Given the description of an element on the screen output the (x, y) to click on. 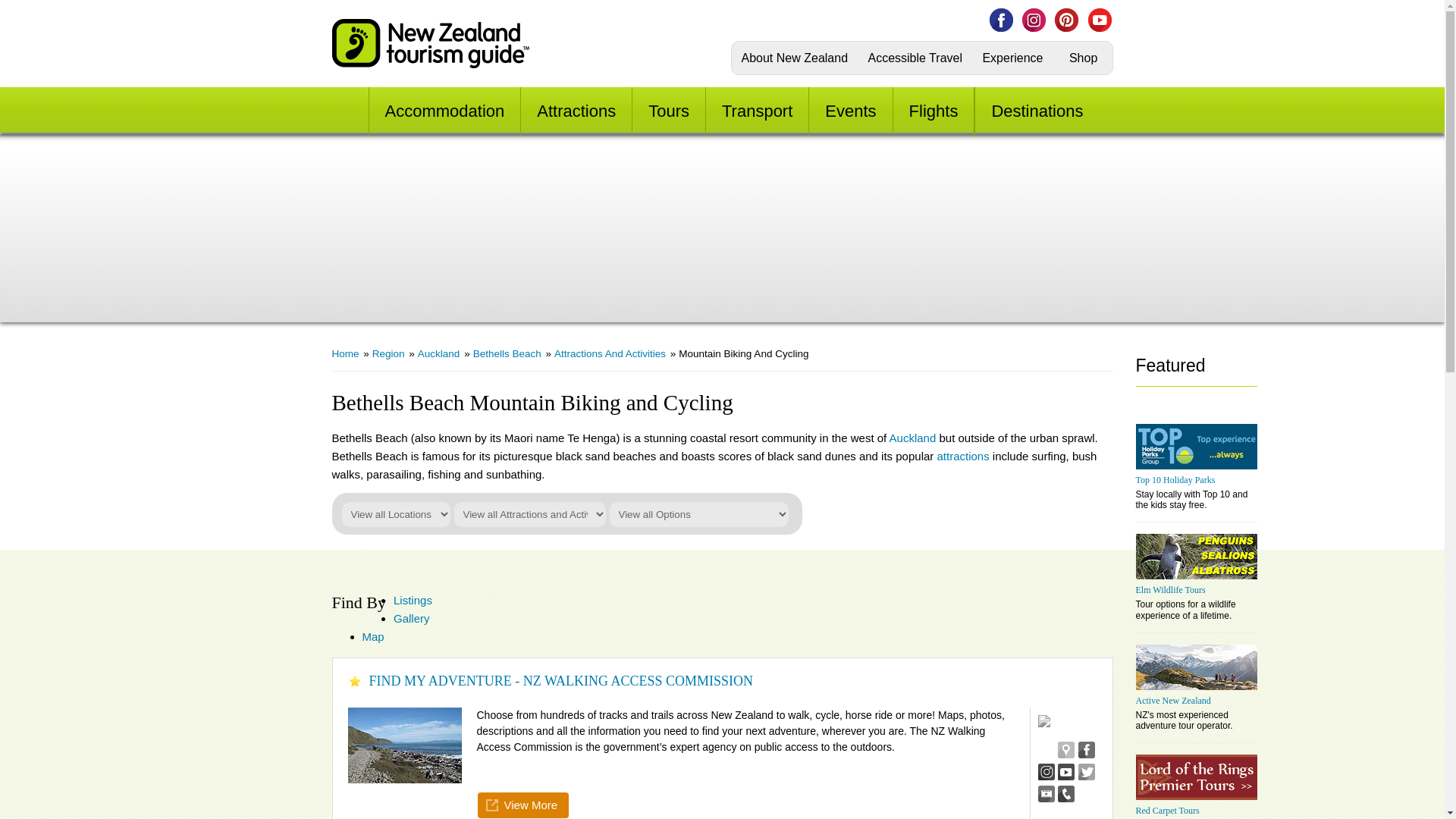
About New Zealand (794, 57)
Watch Tourism Videos on YouTube (1098, 19)
Follow us on Instagram (1033, 19)
Follow us on Facebook (1001, 19)
Follow us on Pintrest (1066, 19)
